Given the description of an element on the screen output the (x, y) to click on. 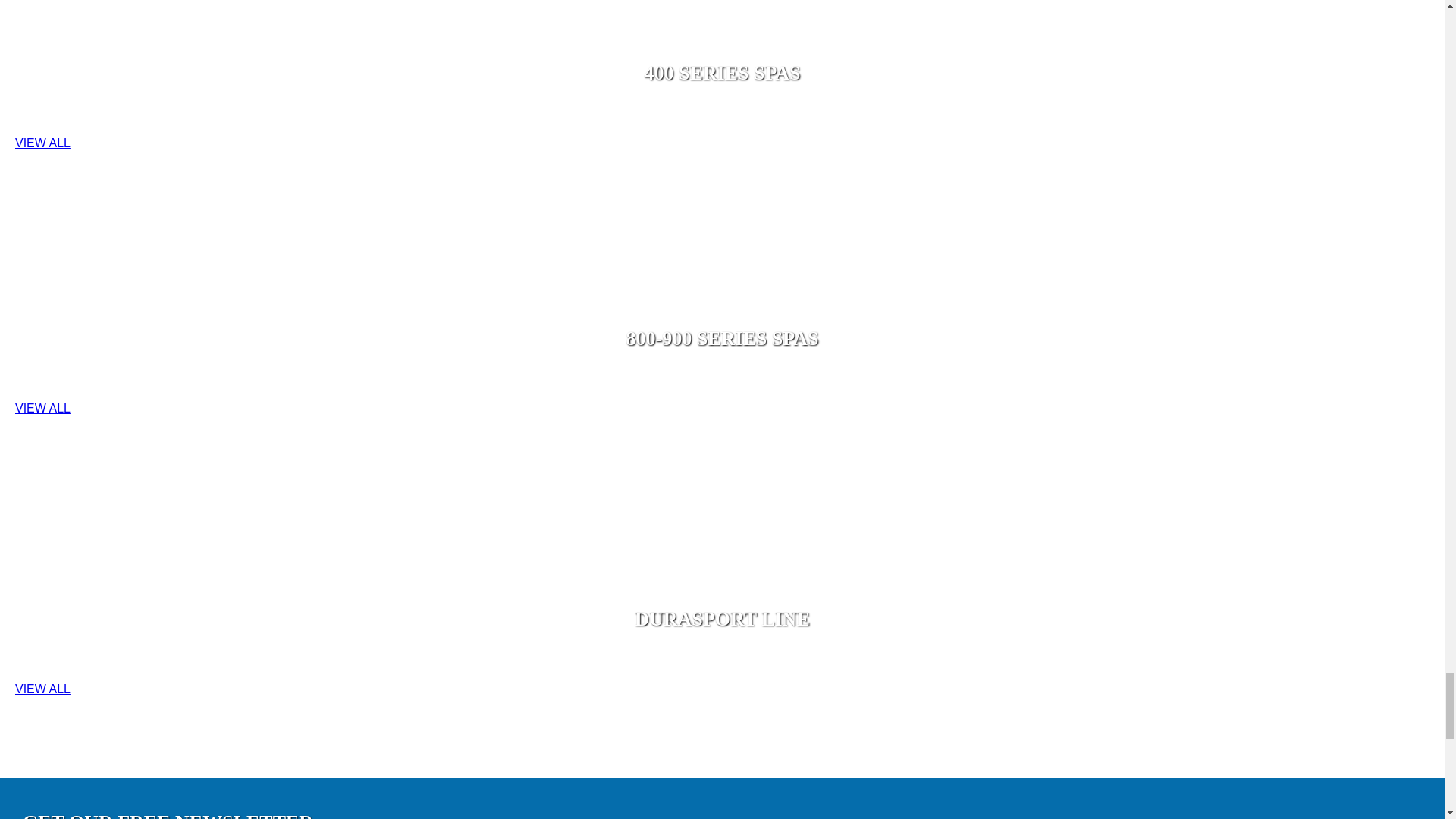
VIEW ALL (41, 142)
VIEW ALL (41, 408)
VIEW ALL (41, 689)
